Given the description of an element on the screen output the (x, y) to click on. 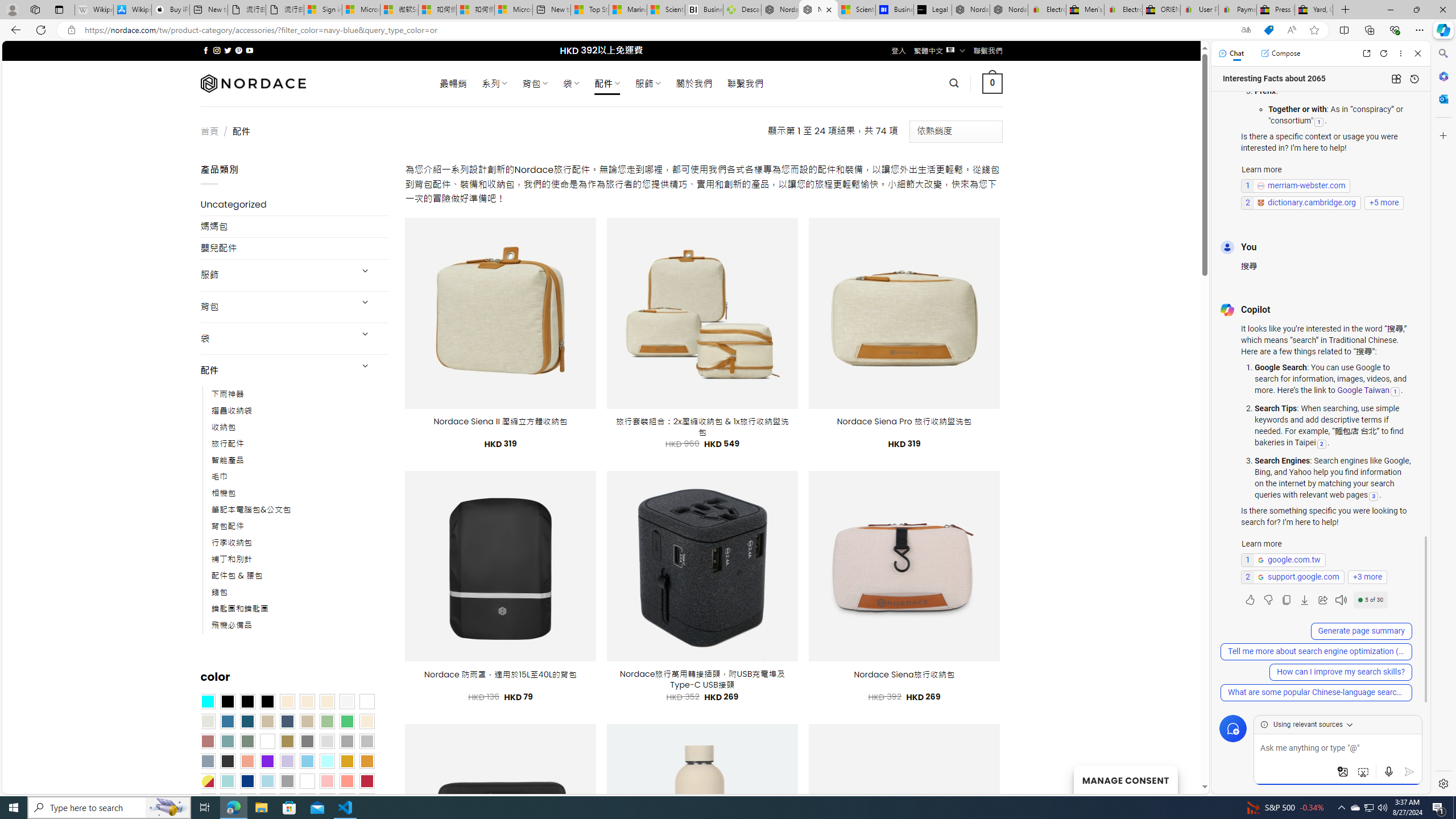
 0  (992, 83)
